Given the description of an element on the screen output the (x, y) to click on. 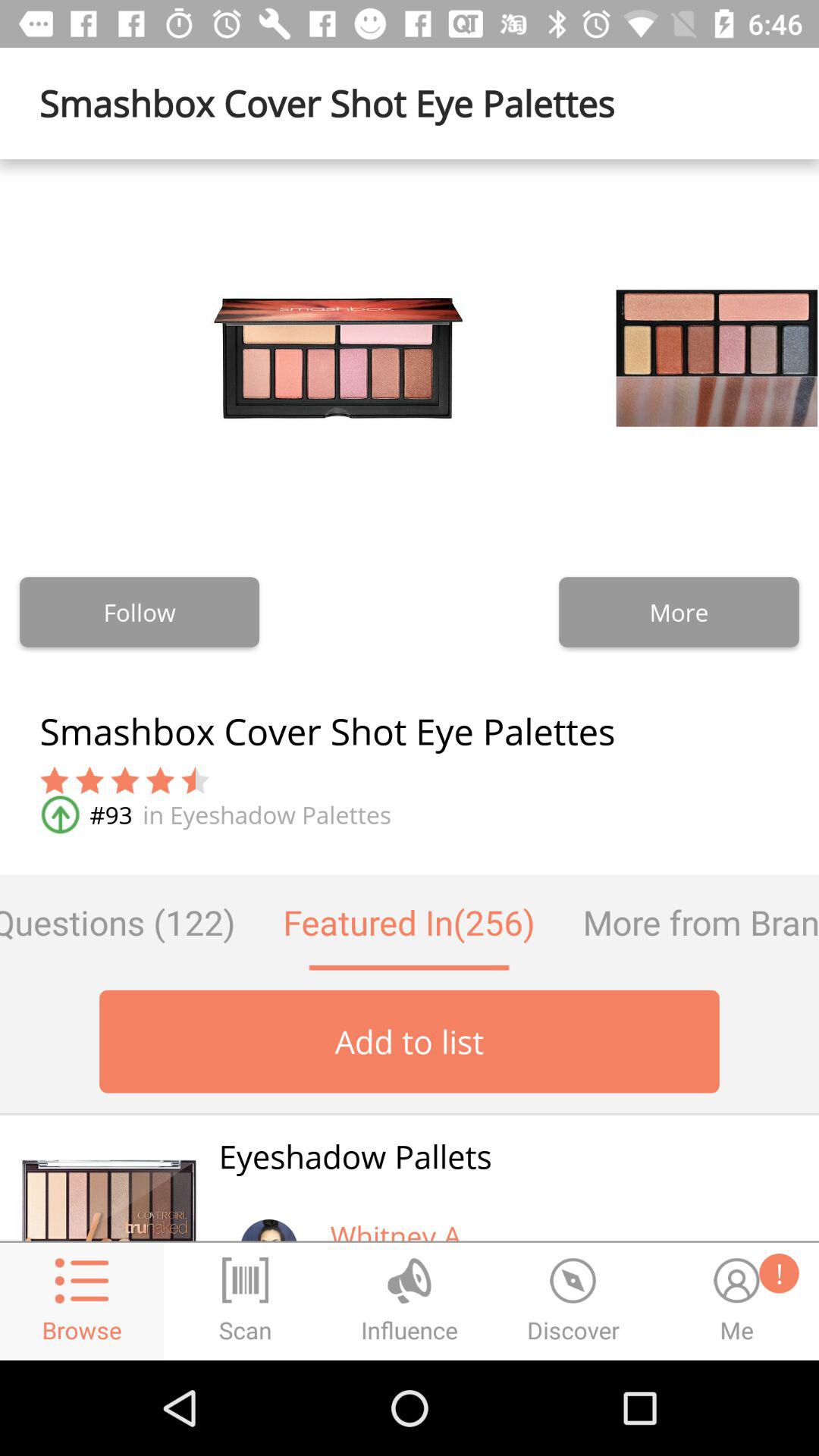
turn on the item to the right of questions (122) (409, 922)
